Given the description of an element on the screen output the (x, y) to click on. 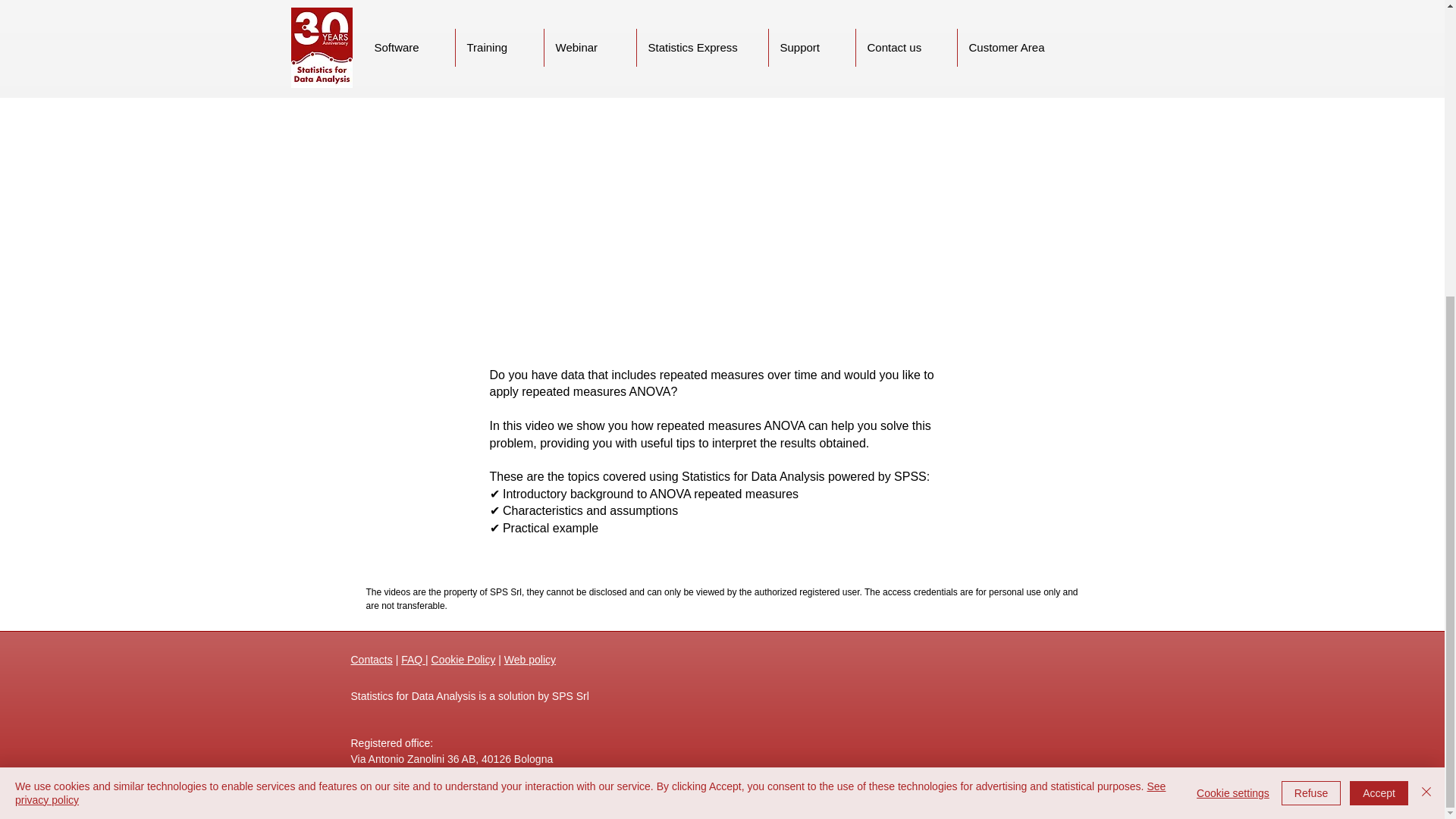
FAQ  (413, 659)
Contacts (370, 659)
Accept (1378, 335)
Refuse (1310, 335)
Web policy (529, 659)
Cookie Policy (463, 659)
See privacy policy (590, 335)
